Given the description of an element on the screen output the (x, y) to click on. 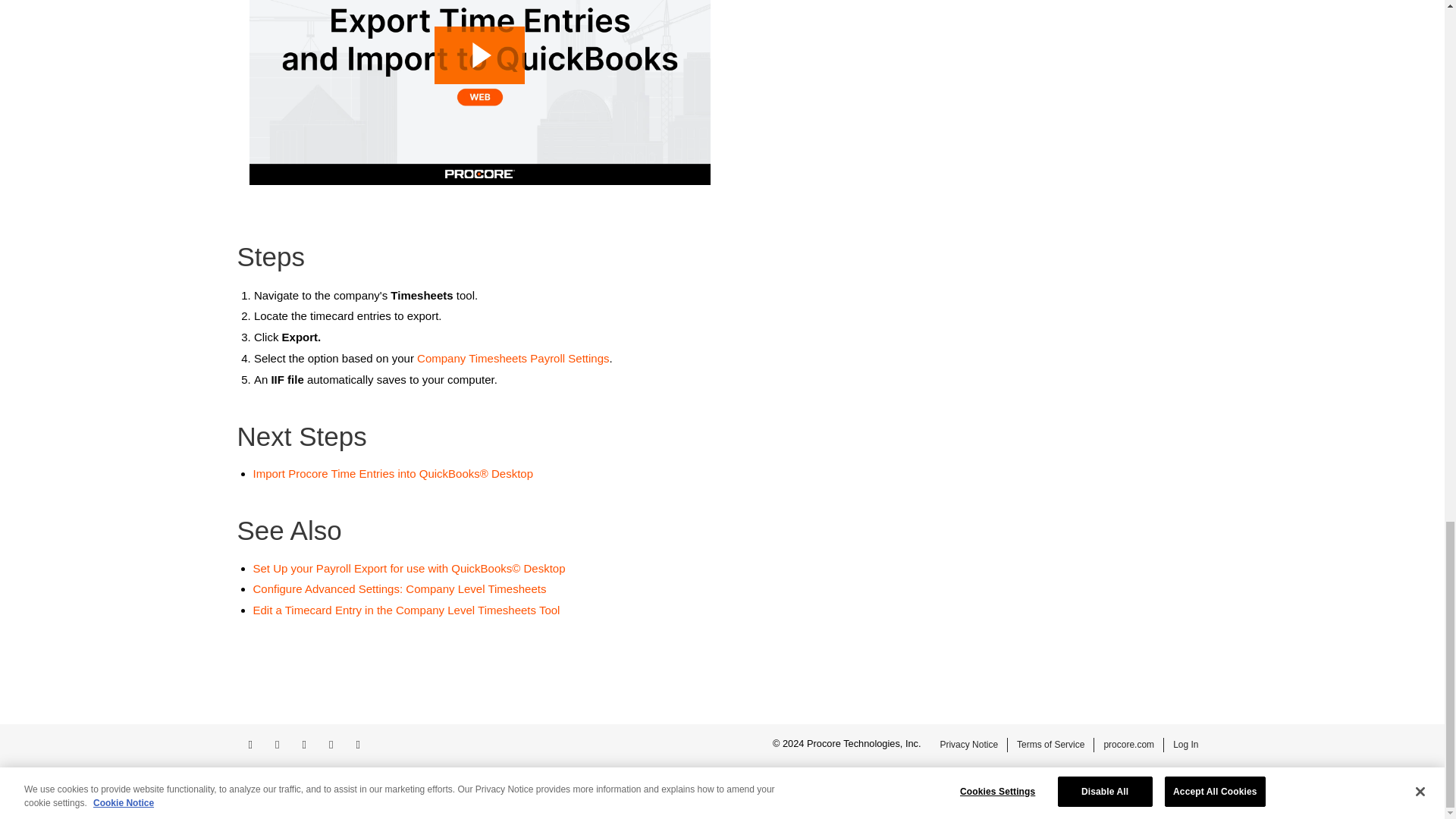
Configure the Company Timesheets Payroll Settings (512, 358)
